Given the description of an element on the screen output the (x, y) to click on. 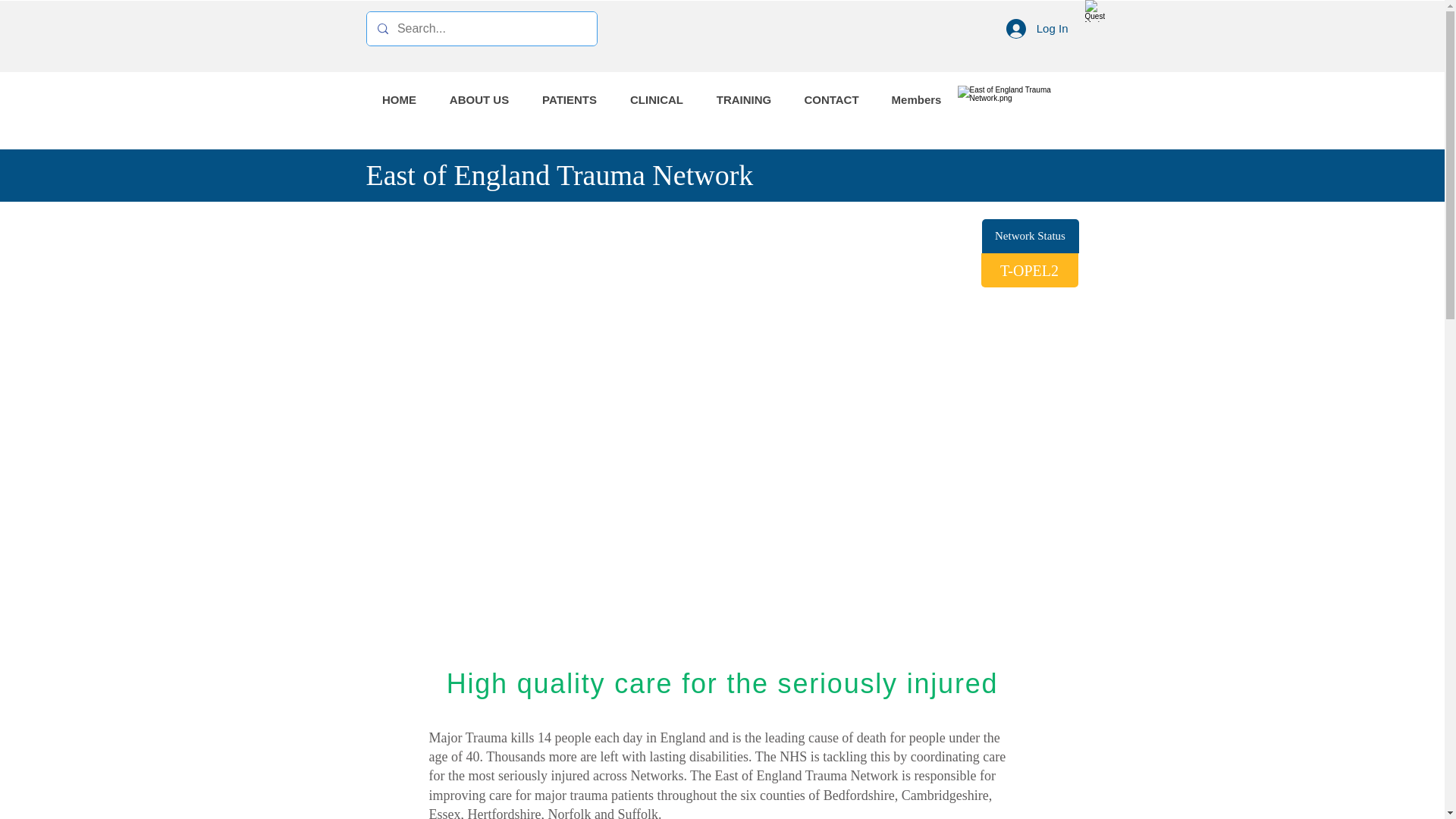
ABOUT US (478, 99)
Log In (1036, 27)
CLINICAL (655, 99)
HOME (398, 99)
TRAINING (742, 99)
Members (916, 99)
CONTACT (831, 99)
PATIENTS (568, 99)
